Given the description of an element on the screen output the (x, y) to click on. 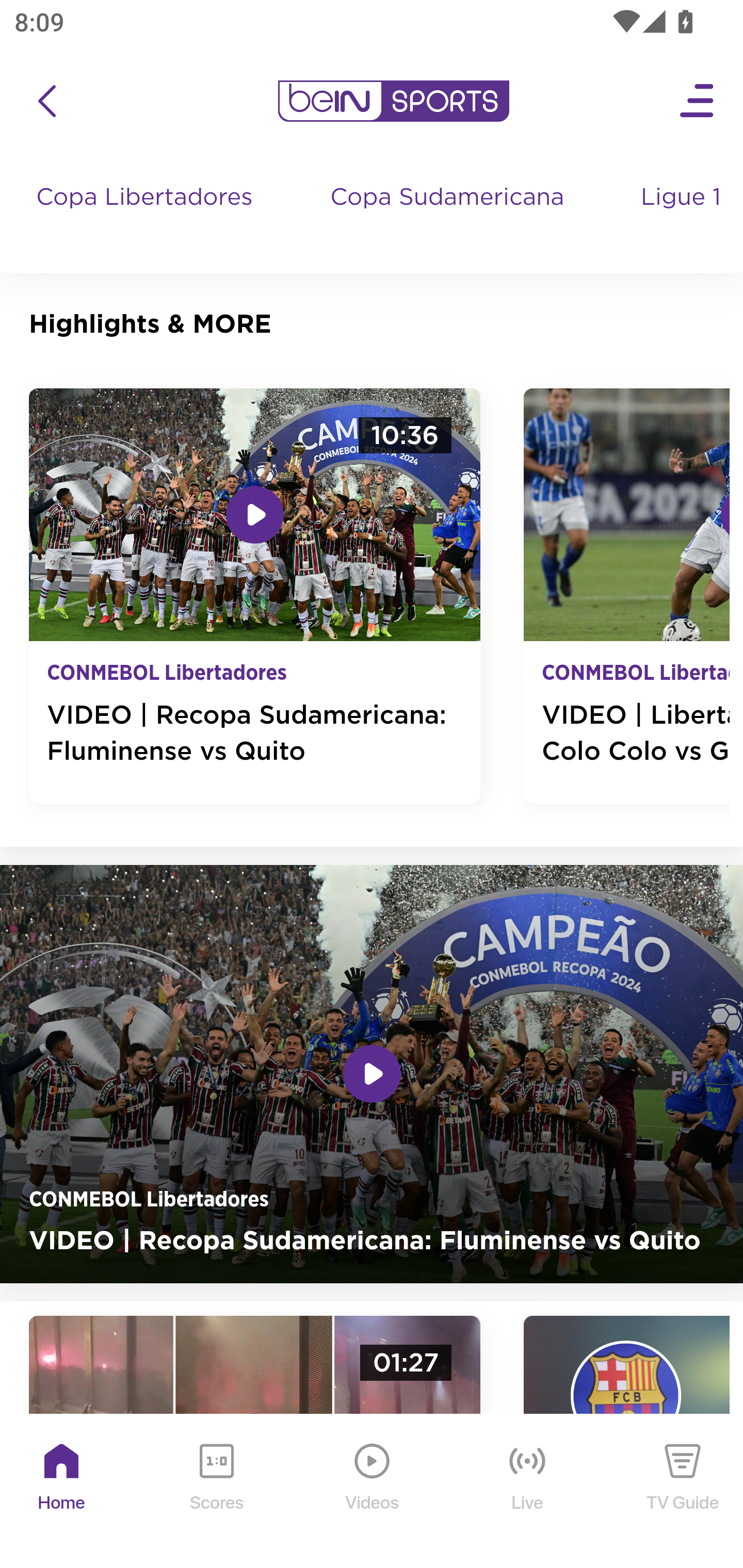
en-us?platform=mobile_android bein logo (392, 101)
icon back (46, 101)
Open Menu Icon (697, 101)
Copa Libertadores (146, 216)
Copa Sudamericana (448, 216)
Ligue 1 (682, 216)
Home Home Icon Home (61, 1491)
Scores Scores Icon Scores (216, 1491)
Videos Videos Icon Videos (372, 1491)
TV Guide TV Guide Icon TV Guide (682, 1491)
